Given the description of an element on the screen output the (x, y) to click on. 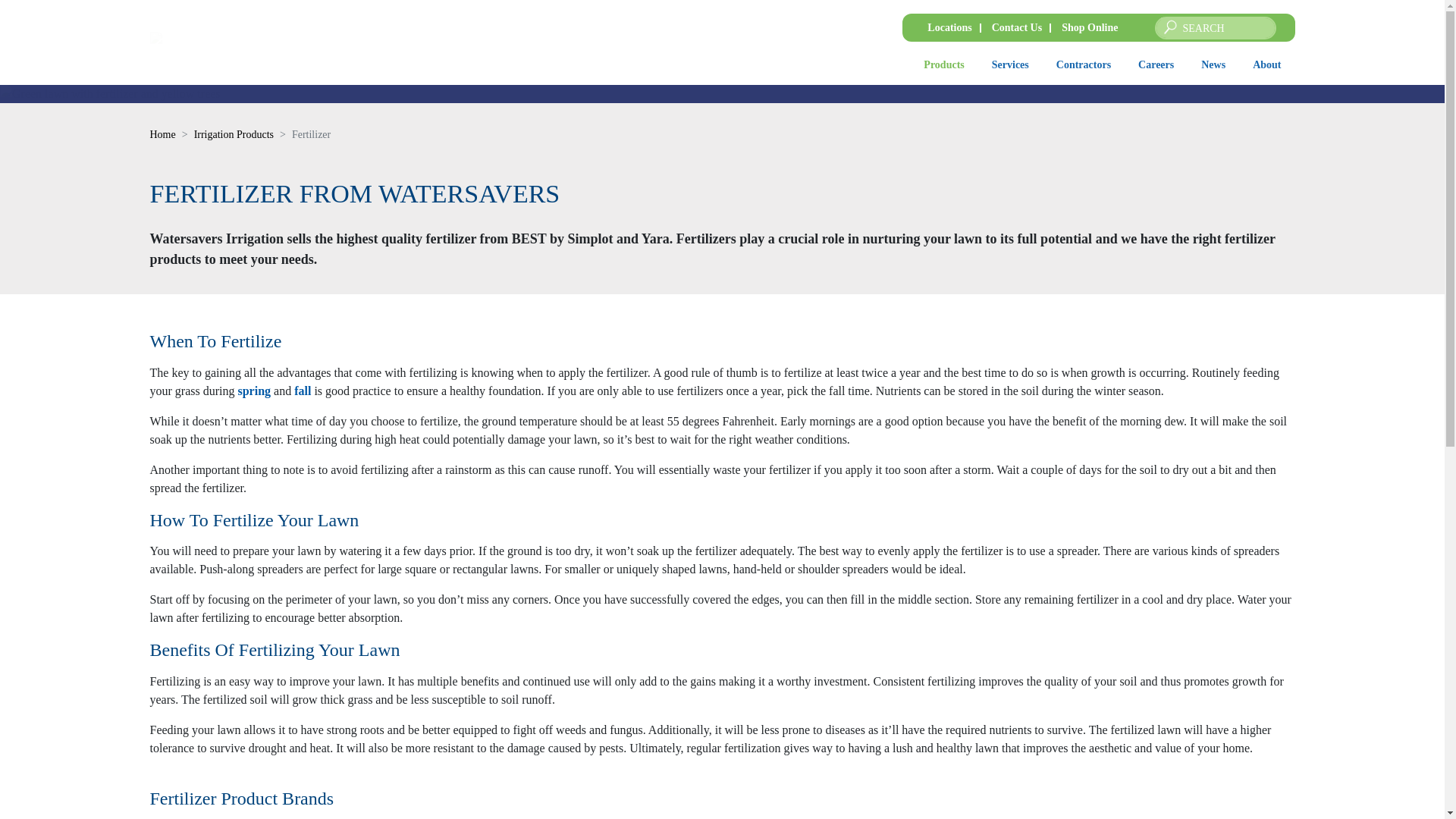
Careers (1155, 64)
Contractors (1082, 64)
Products (943, 64)
Services (1010, 64)
News (1213, 64)
Shop Online (1089, 27)
Contact Us (1016, 27)
About (1266, 64)
Locations (948, 27)
